Given the description of an element on the screen output the (x, y) to click on. 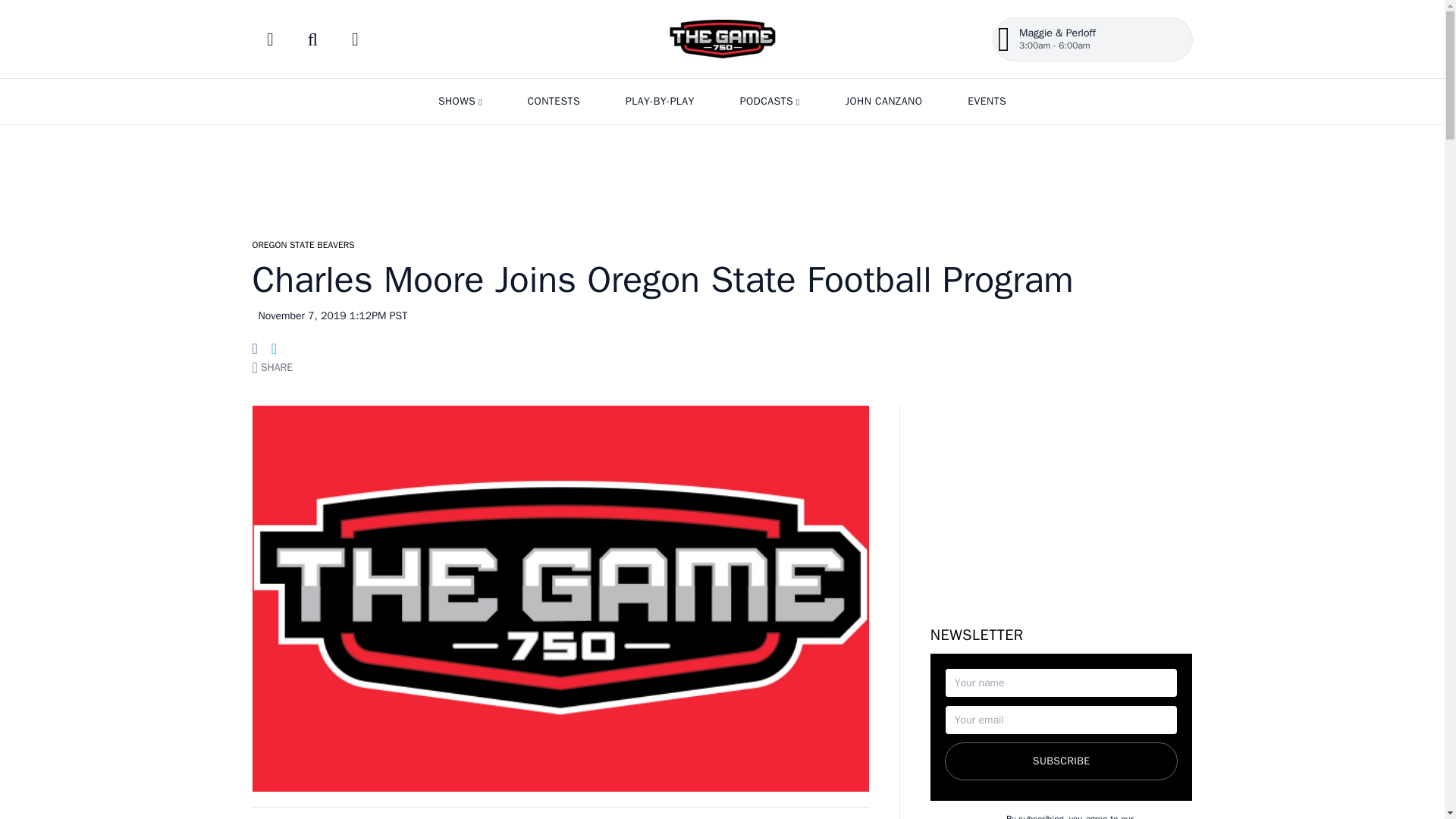
3rd party ad content (1060, 500)
3rd party ad content (721, 174)
